Given the description of an element on the screen output the (x, y) to click on. 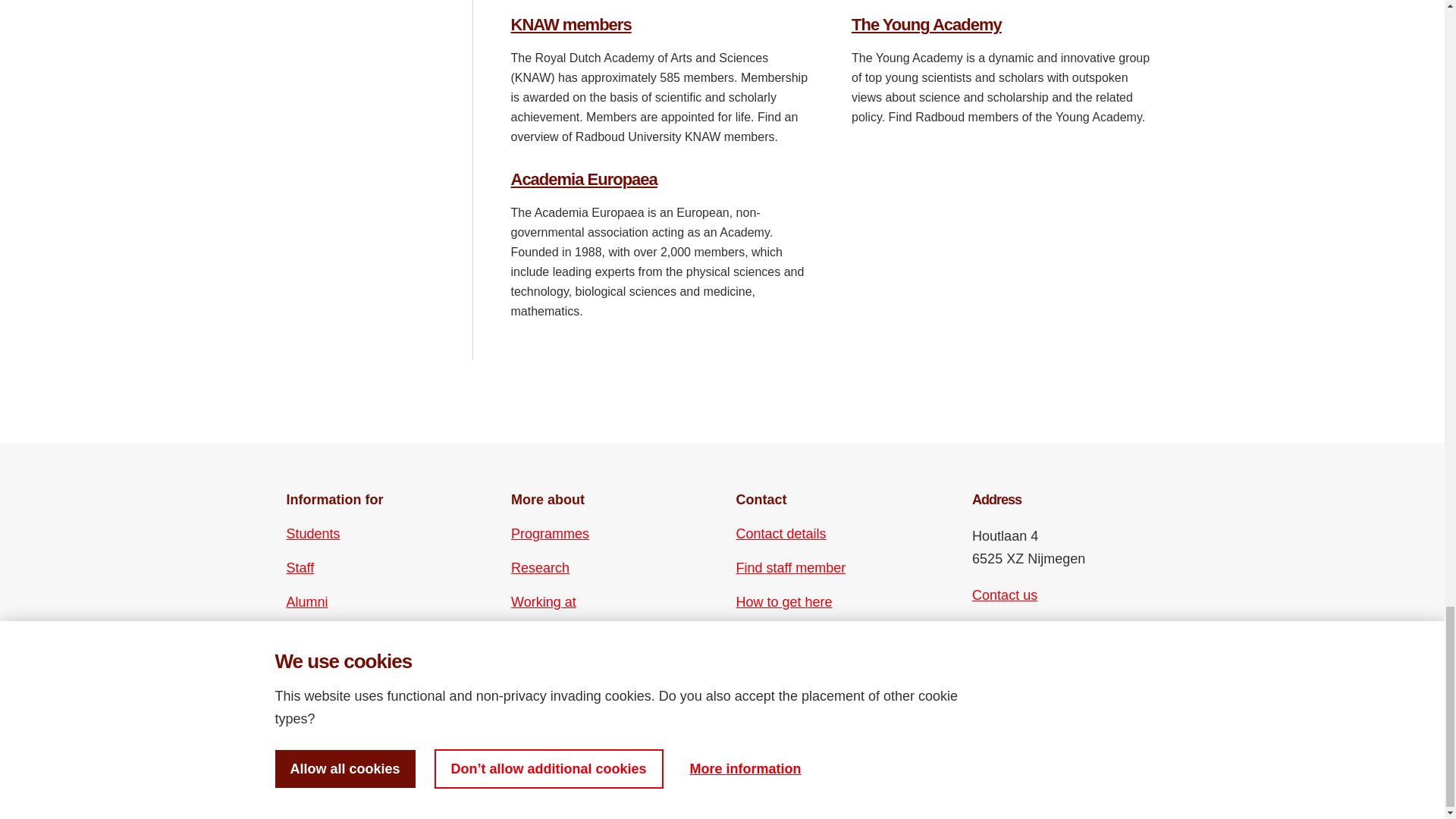
X (983, 667)
Mastodon (1062, 640)
TikTok (1036, 667)
Information about our campus and how to get here (784, 601)
YouTube (1010, 667)
Facebook (983, 640)
LinkedIn (1036, 640)
Instagram (1010, 640)
